Given the description of an element on the screen output the (x, y) to click on. 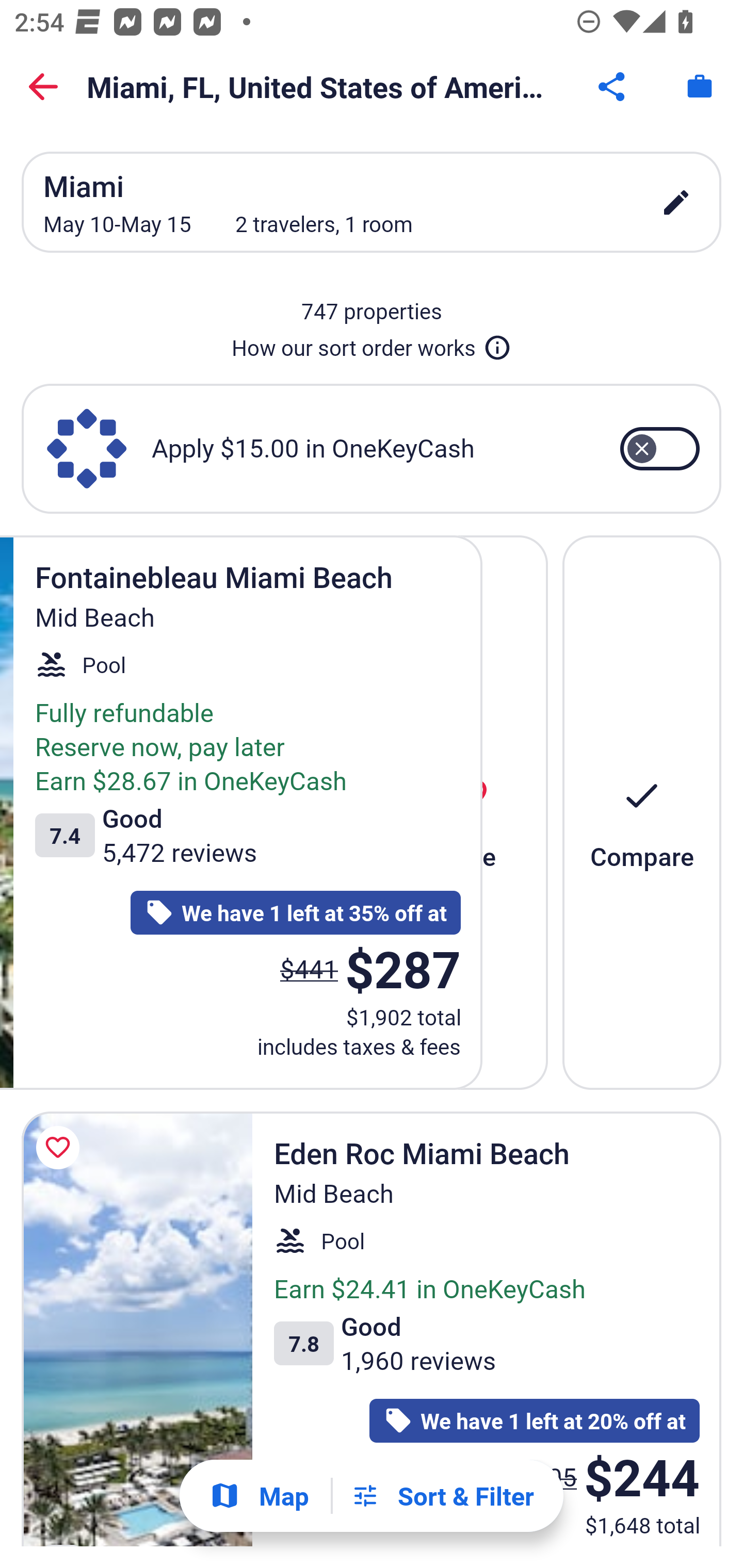
Back (43, 86)
Share Button (612, 86)
Trips. Button (699, 86)
Miami May 10-May 15 2 travelers, 1 room edit (371, 202)
How our sort order works (371, 344)
Compare (641, 811)
$441 The price was $441 (308, 968)
Save Eden Roc Miami Beach to a trip (61, 1147)
Eden Roc Miami Beach (136, 1328)
Filters Sort & Filter Filters Button (442, 1495)
Show map Map Show map Button (258, 1495)
